Given the description of an element on the screen output the (x, y) to click on. 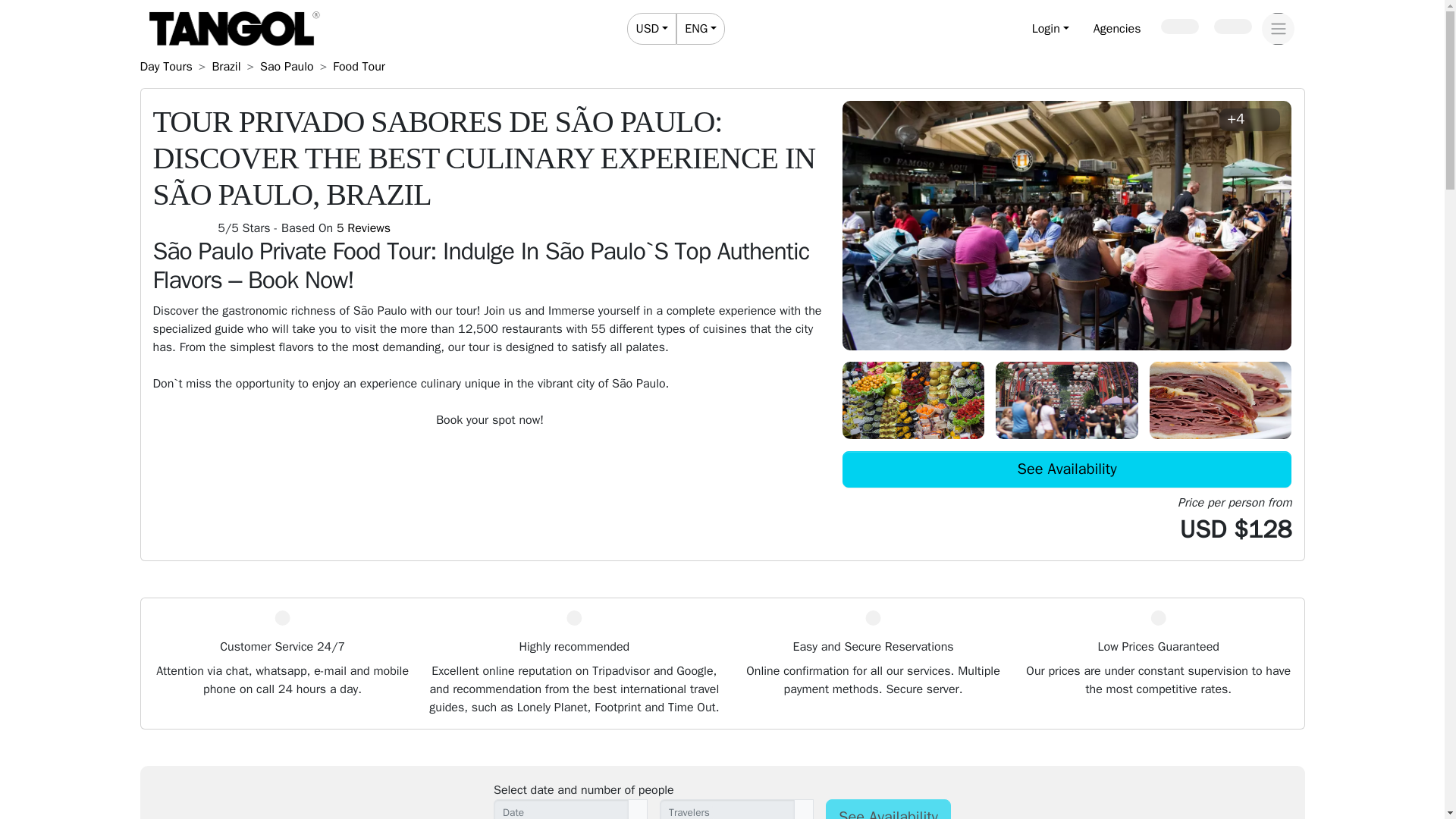
My Cart (1231, 25)
Sao Paulo (287, 66)
Food Tour (676, 29)
ENG (359, 66)
Day Tours (700, 28)
Brazil (165, 66)
Agencies (225, 66)
Destinations in Brazil  (1117, 28)
Contact (225, 66)
